Given the description of an element on the screen output the (x, y) to click on. 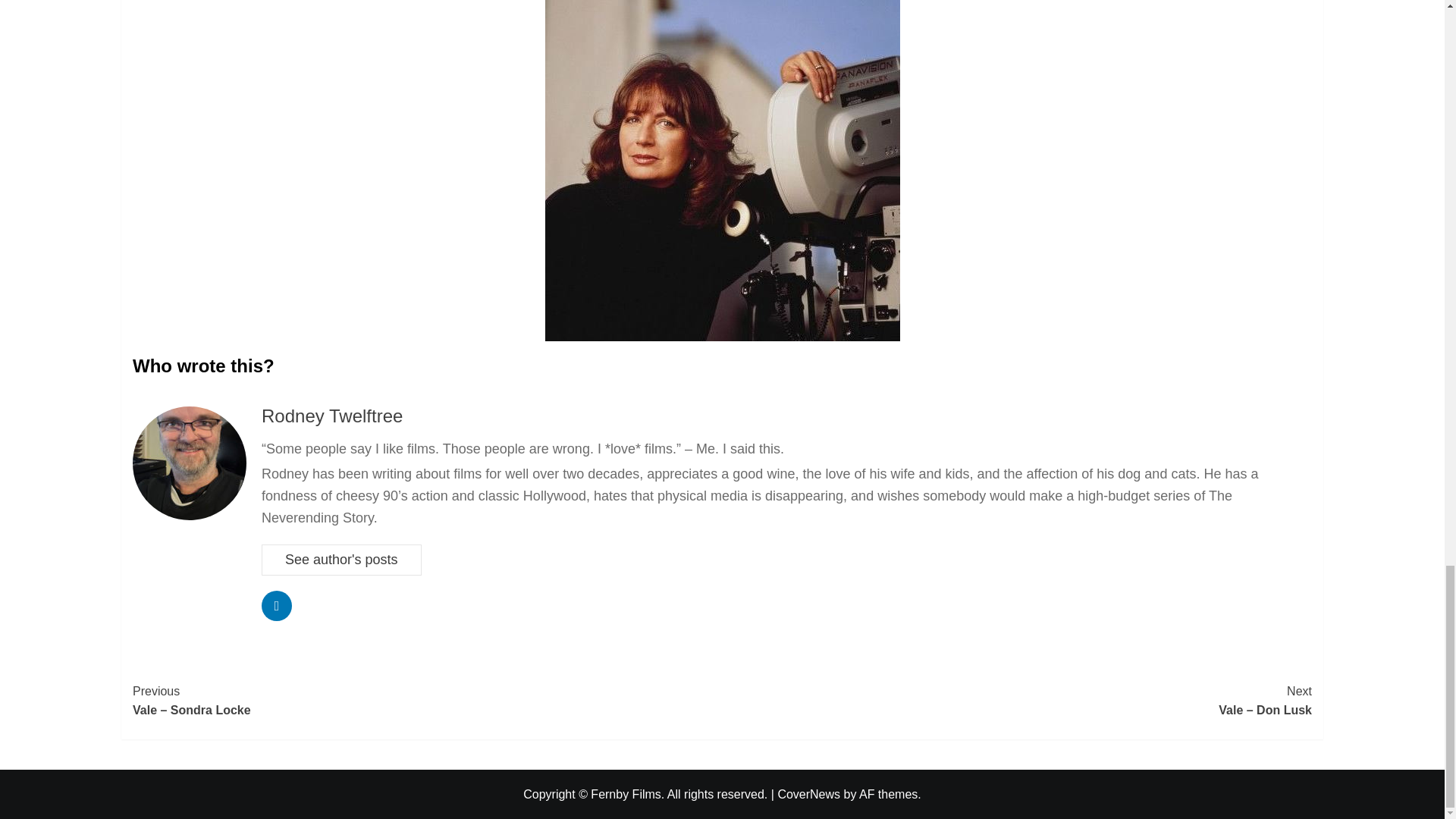
Rodney Twelftree (332, 415)
CoverNews (808, 793)
See author's posts (342, 559)
